Given the description of an element on the screen output the (x, y) to click on. 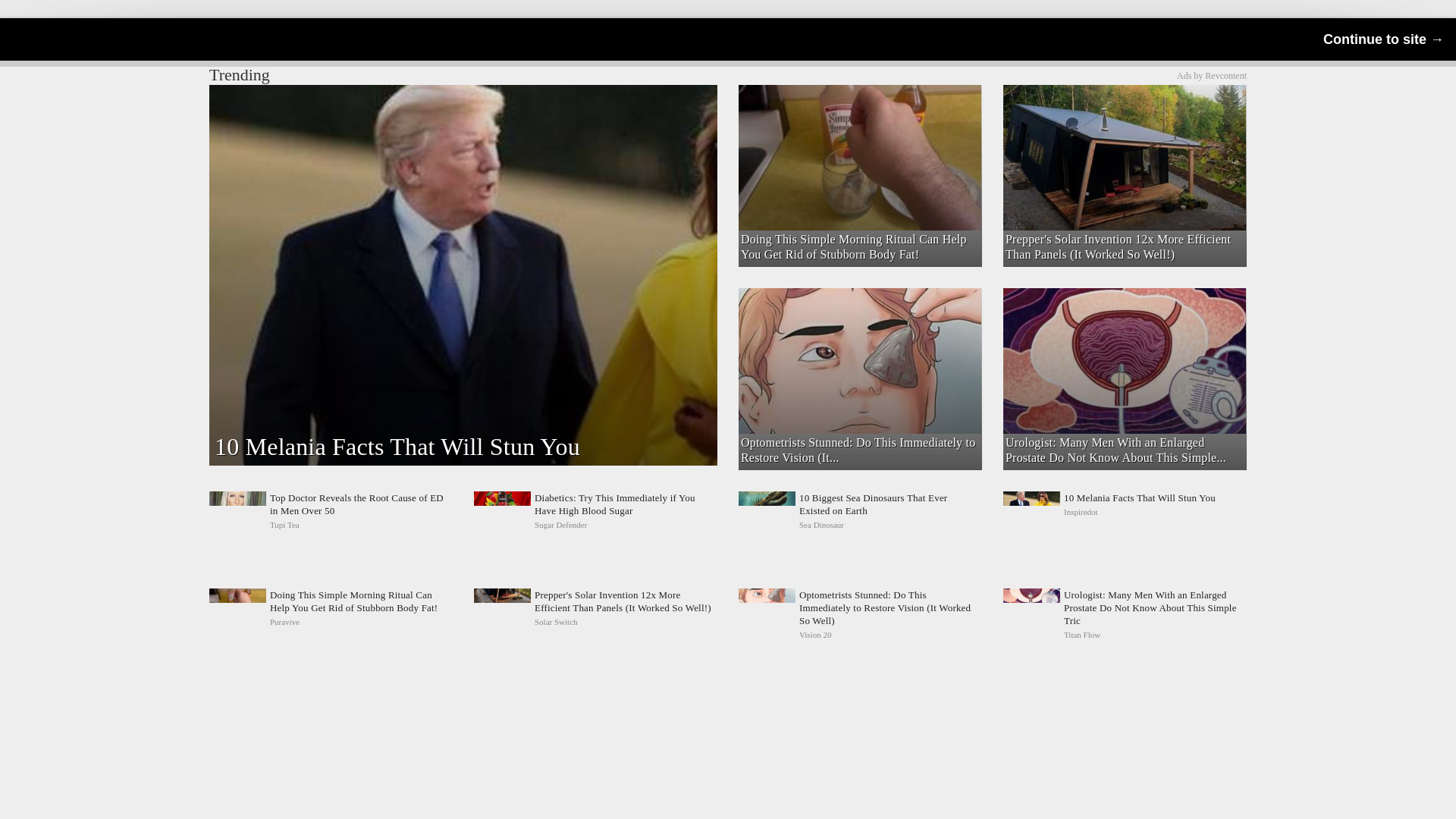
10 Melania Facts That Will Stun You (1124, 510)
BIDEN FACEPLANTS (859, 111)
10 Biggest Sea Dinosaurs That Ever Existed on Earth (859, 510)
10 Melania Facts That Will Stun You (1124, 510)
